Given the description of an element on the screen output the (x, y) to click on. 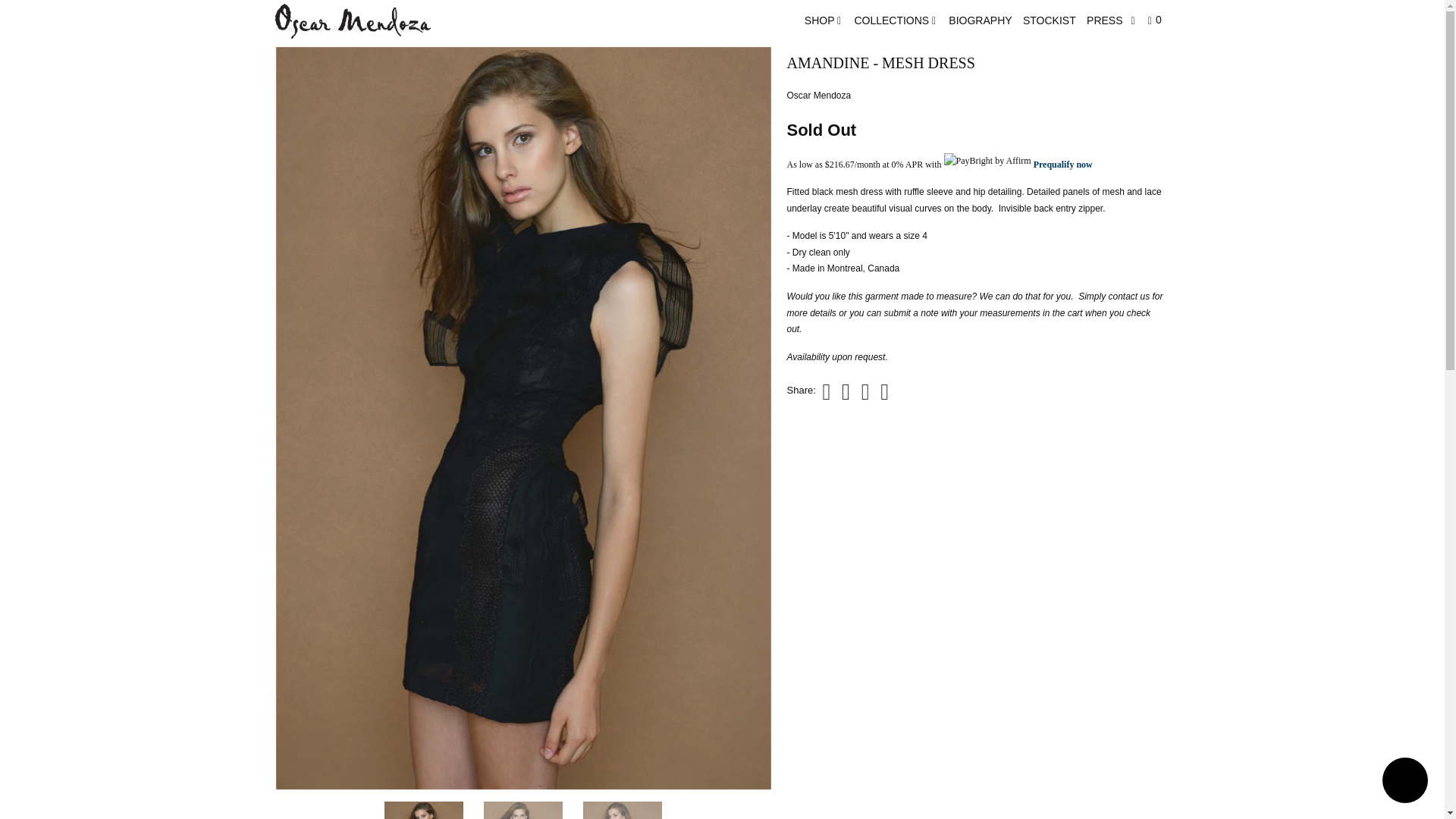
Oscar Mendoza (286, 28)
Oscar Mendoza Contact (858, 357)
Oscar Mendoza (819, 95)
Oscar Mendoza (352, 20)
Shop (314, 28)
